Given the description of an element on the screen output the (x, y) to click on. 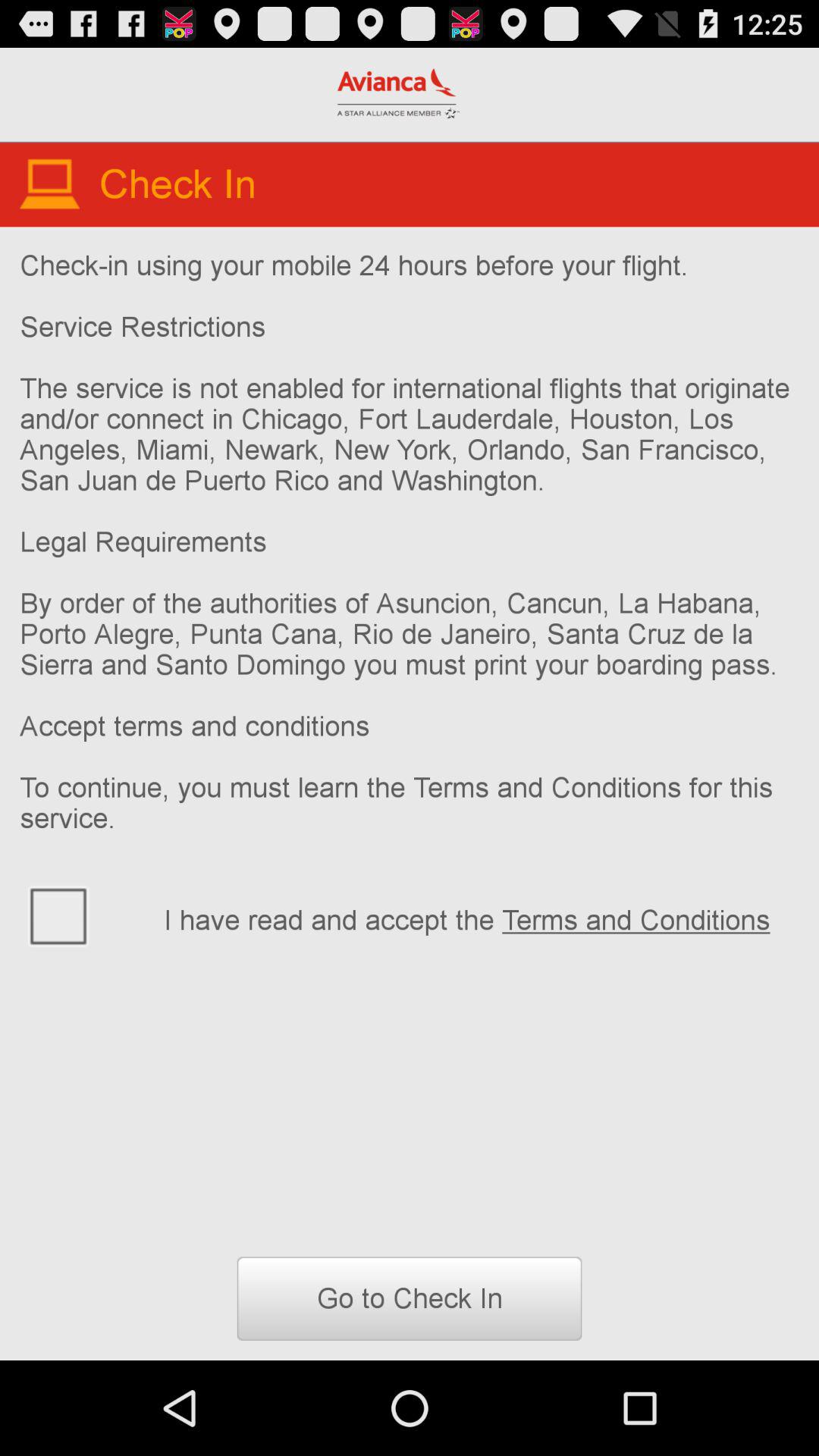
turn on item below check in using (481, 917)
